Given the description of an element on the screen output the (x, y) to click on. 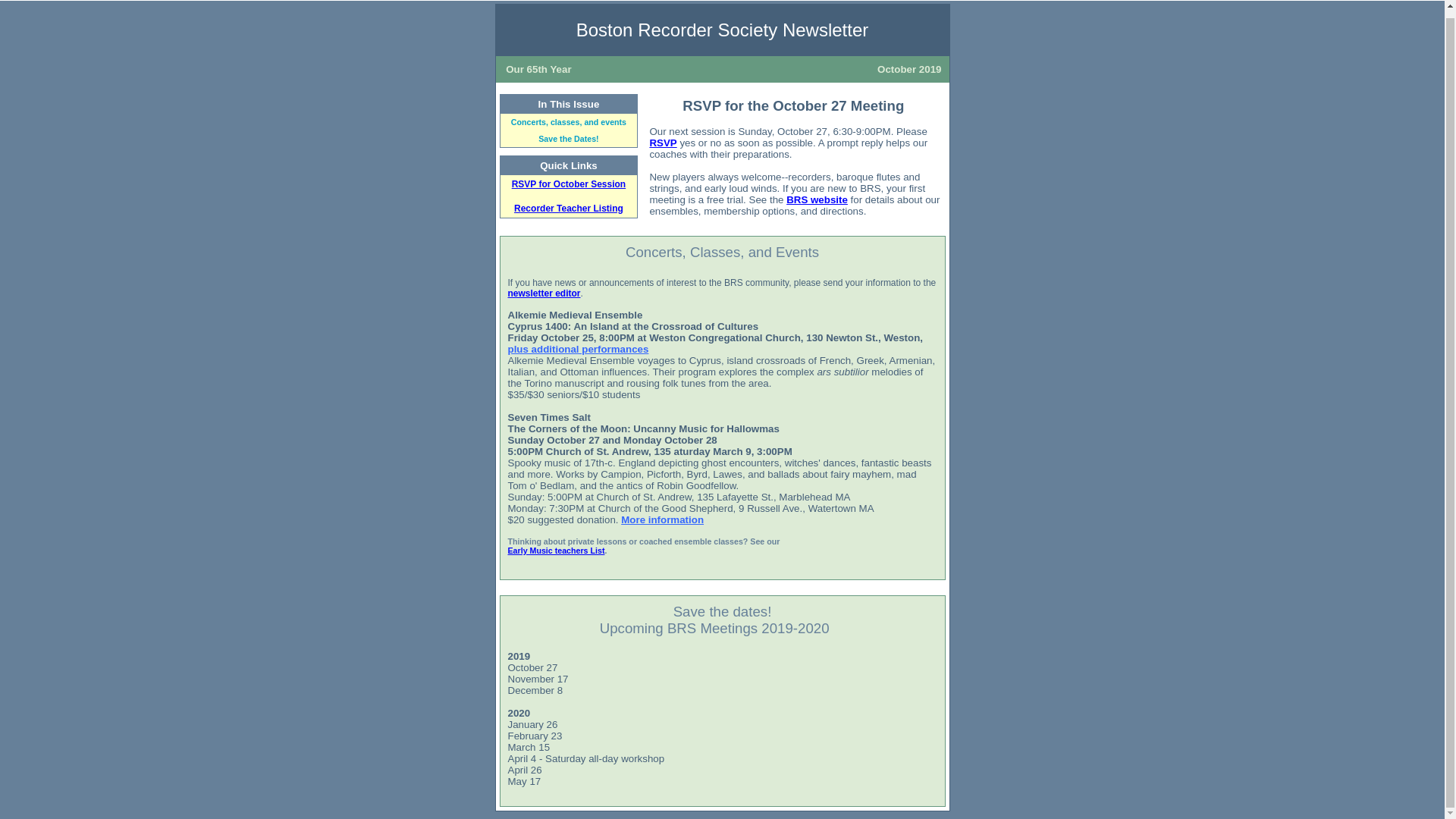
Recorder Teacher Listing (568, 208)
More information (662, 519)
newsletter editor (544, 293)
Save the Dates! (568, 138)
Early Music teachers List (556, 550)
BRS website (816, 199)
RSVP (663, 142)
Concerts, classes, and events (568, 121)
plus additional performances (578, 348)
RSVP for October Session (569, 184)
